Given the description of an element on the screen output the (x, y) to click on. 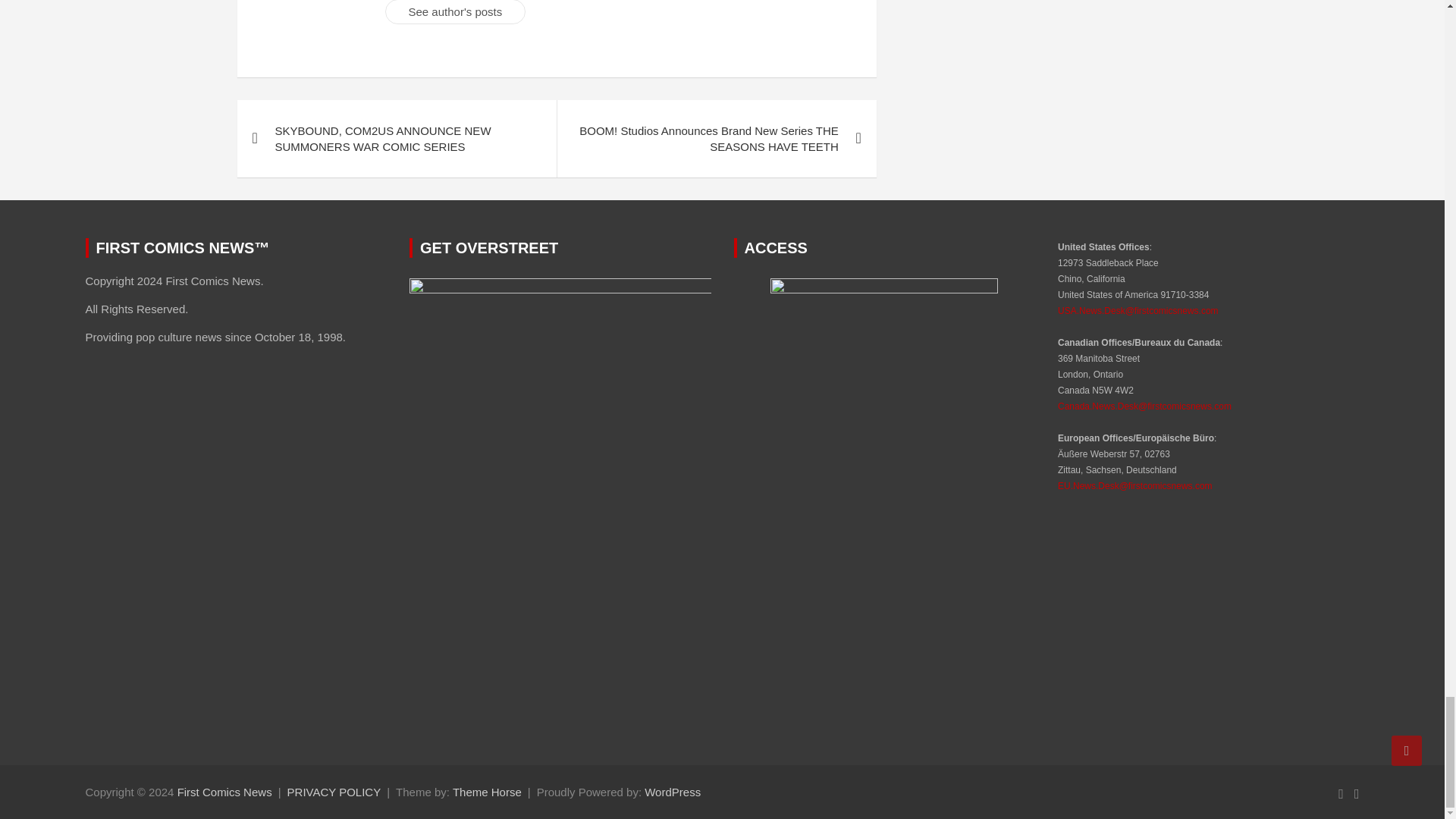
WordPress (672, 791)
First Comics News (224, 791)
Theme Horse (486, 791)
